Given the description of an element on the screen output the (x, y) to click on. 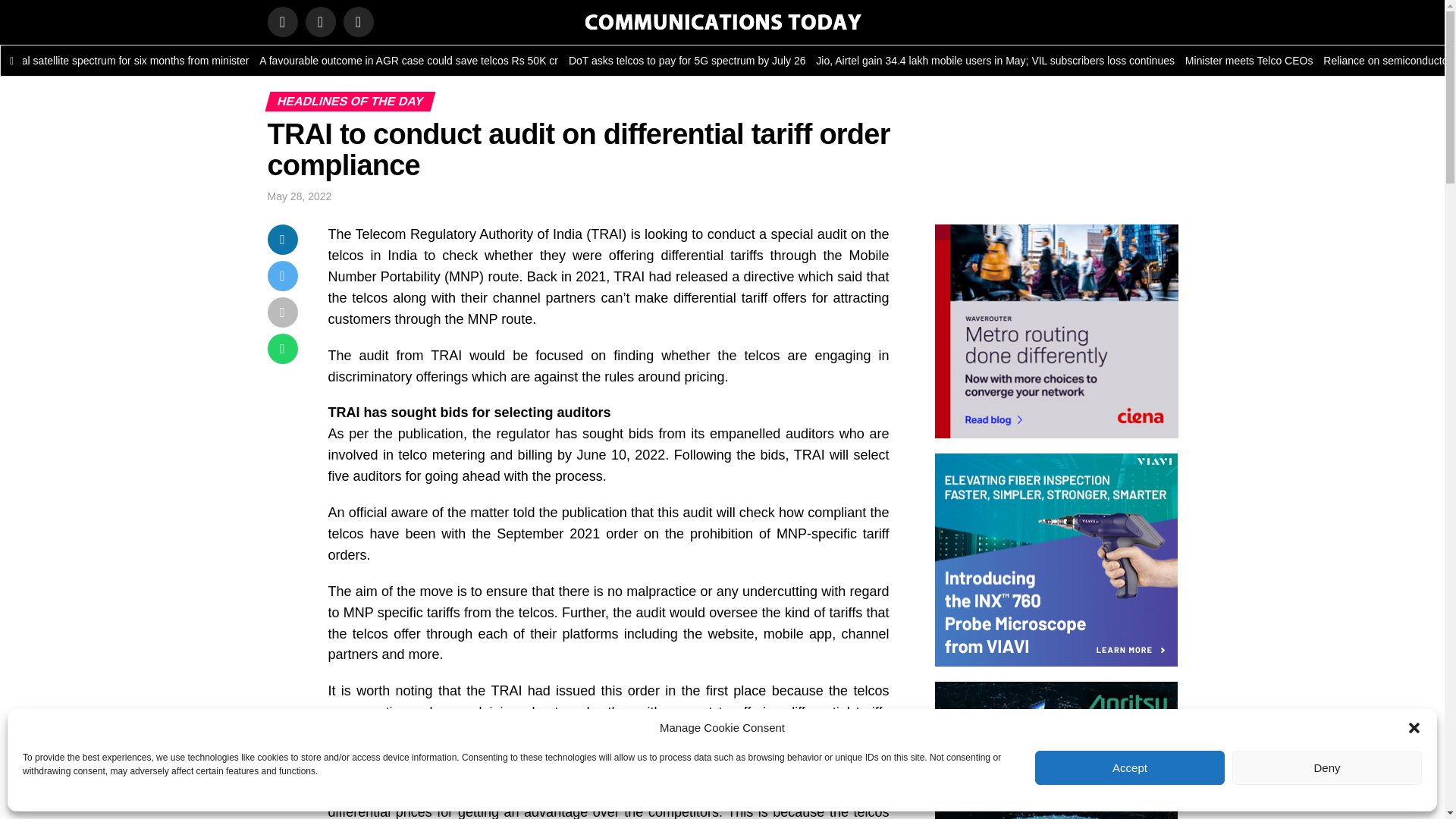
DoT asks telcos to pay for 5G spectrum by July 26 (855, 60)
A favourable outcome in AGR case could save telcos Rs 50K cr (579, 60)
Project Kuiper seeks India licence (20, 60)
